Given the description of an element on the screen output the (x, y) to click on. 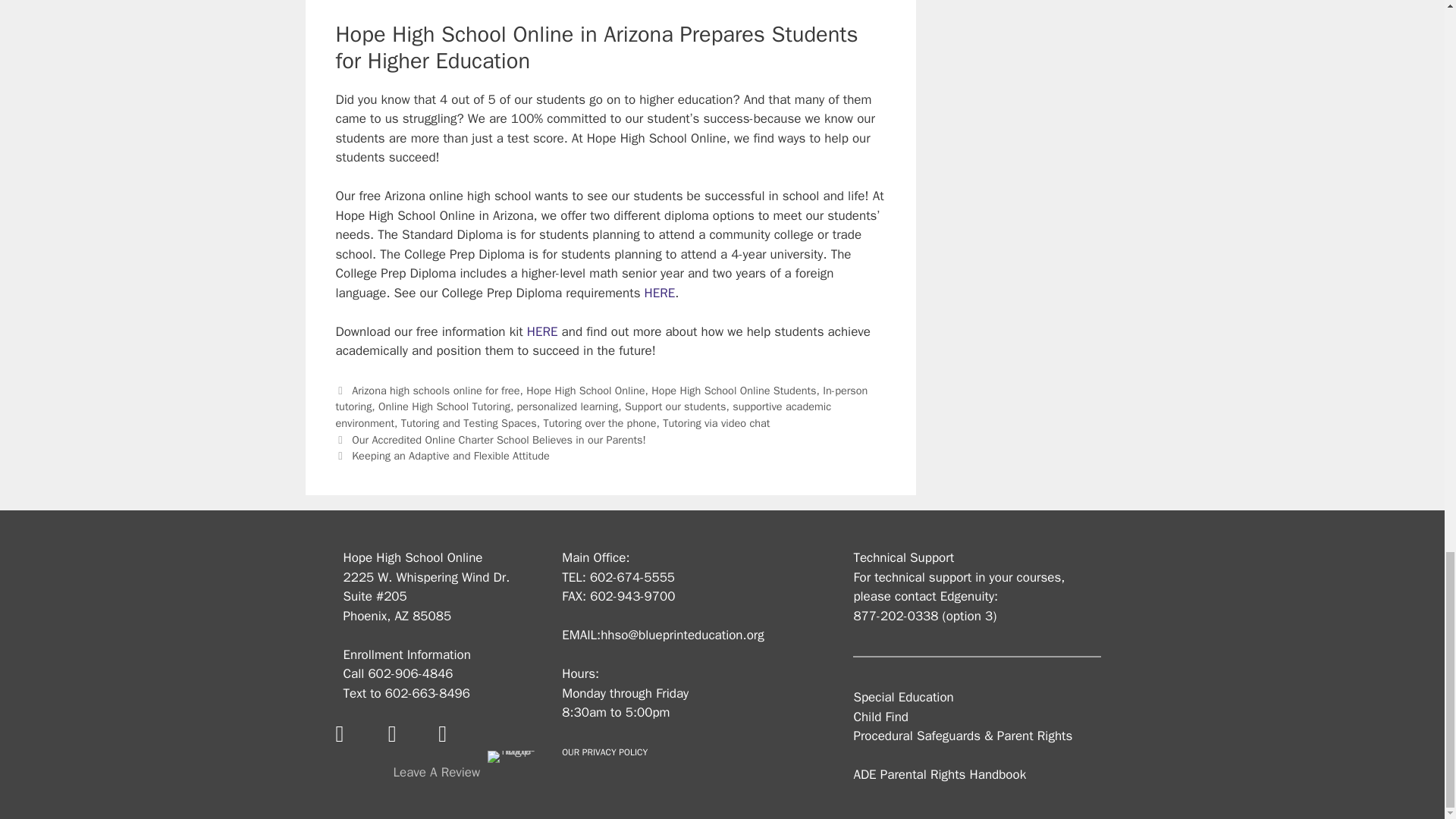
niche-logo-crop (512, 756)
